Given the description of an element on the screen output the (x, y) to click on. 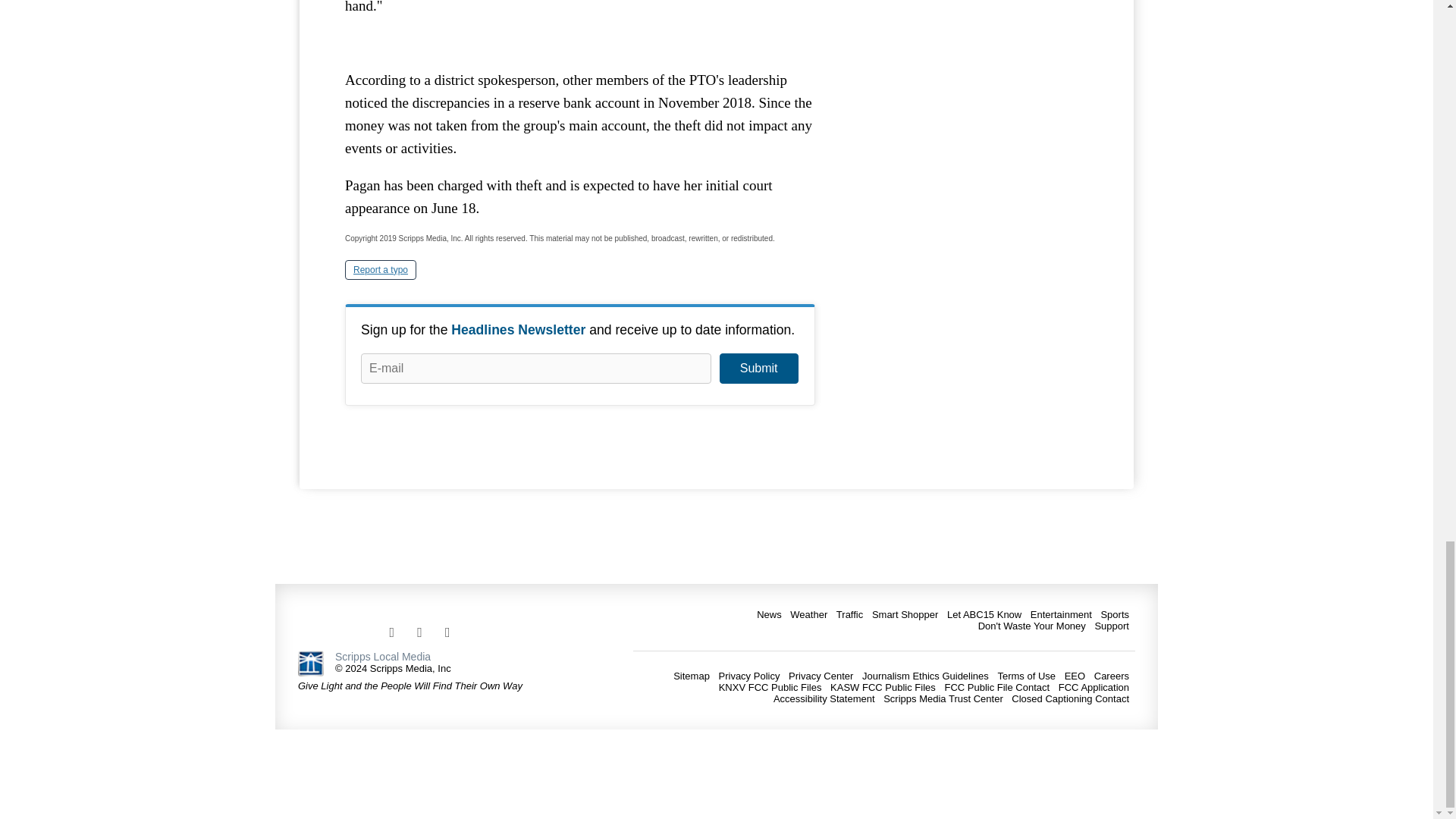
Submit (758, 368)
